Given the description of an element on the screen output the (x, y) to click on. 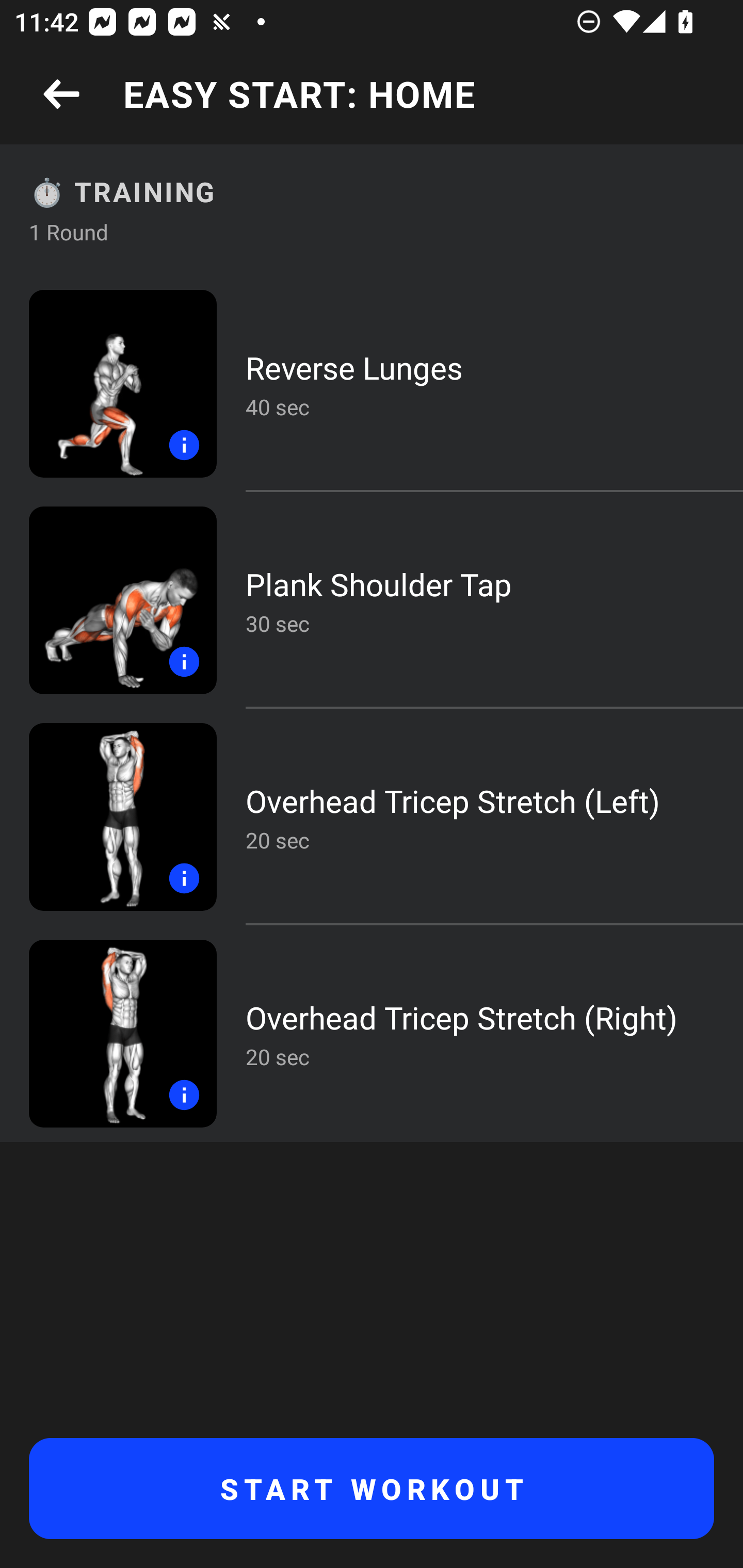
Reverse Lunges 40 sec (371, 383)
Plank Shoulder Tap 30 sec (371, 600)
Overhead Tricep Stretch (Left) 20 sec (371, 816)
Overhead Tricep Stretch (Right) 20 sec (371, 1033)
START WORKOUT (371, 1488)
